Given the description of an element on the screen output the (x, y) to click on. 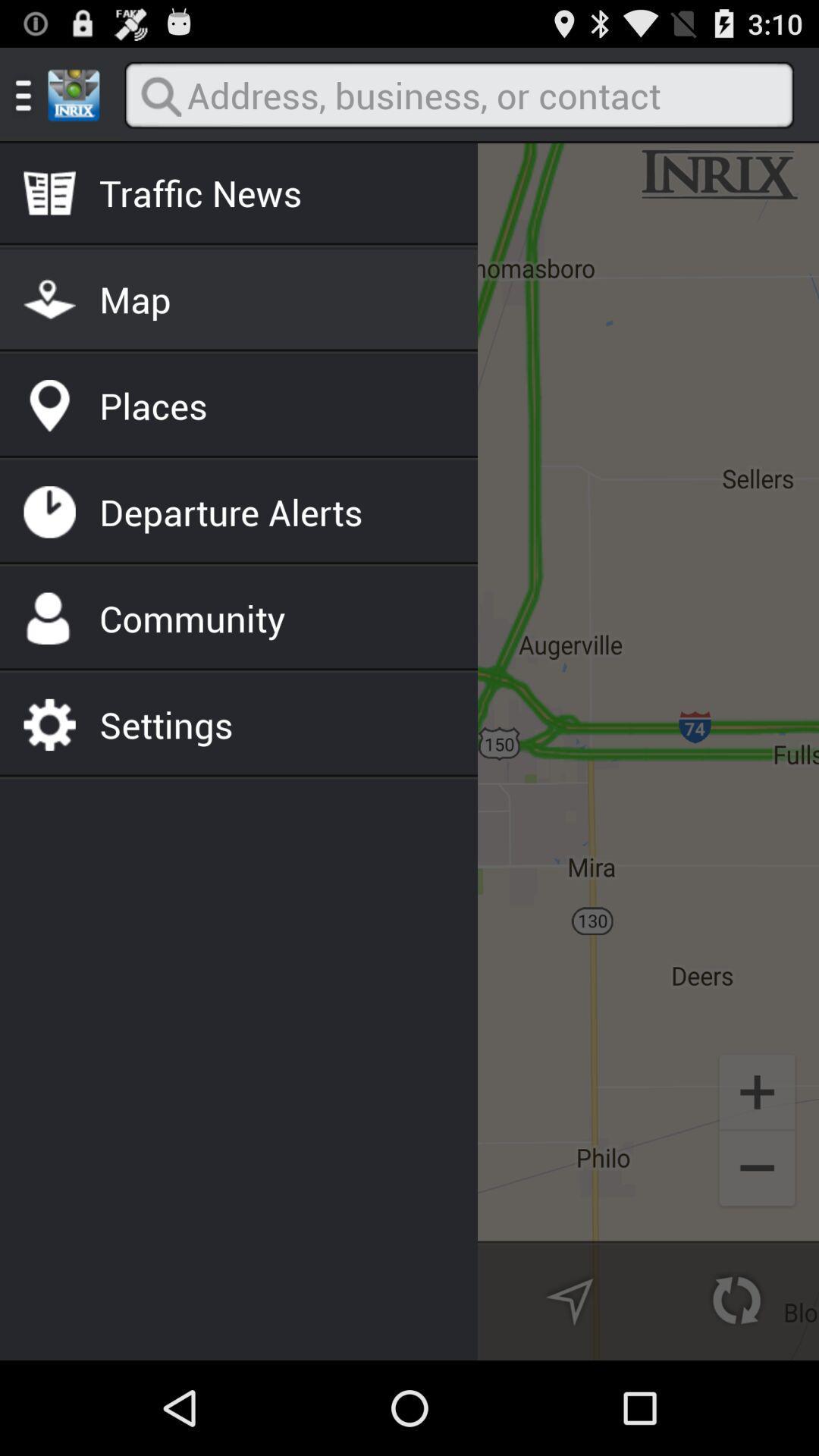
jump until places (153, 405)
